Given the description of an element on the screen output the (x, y) to click on. 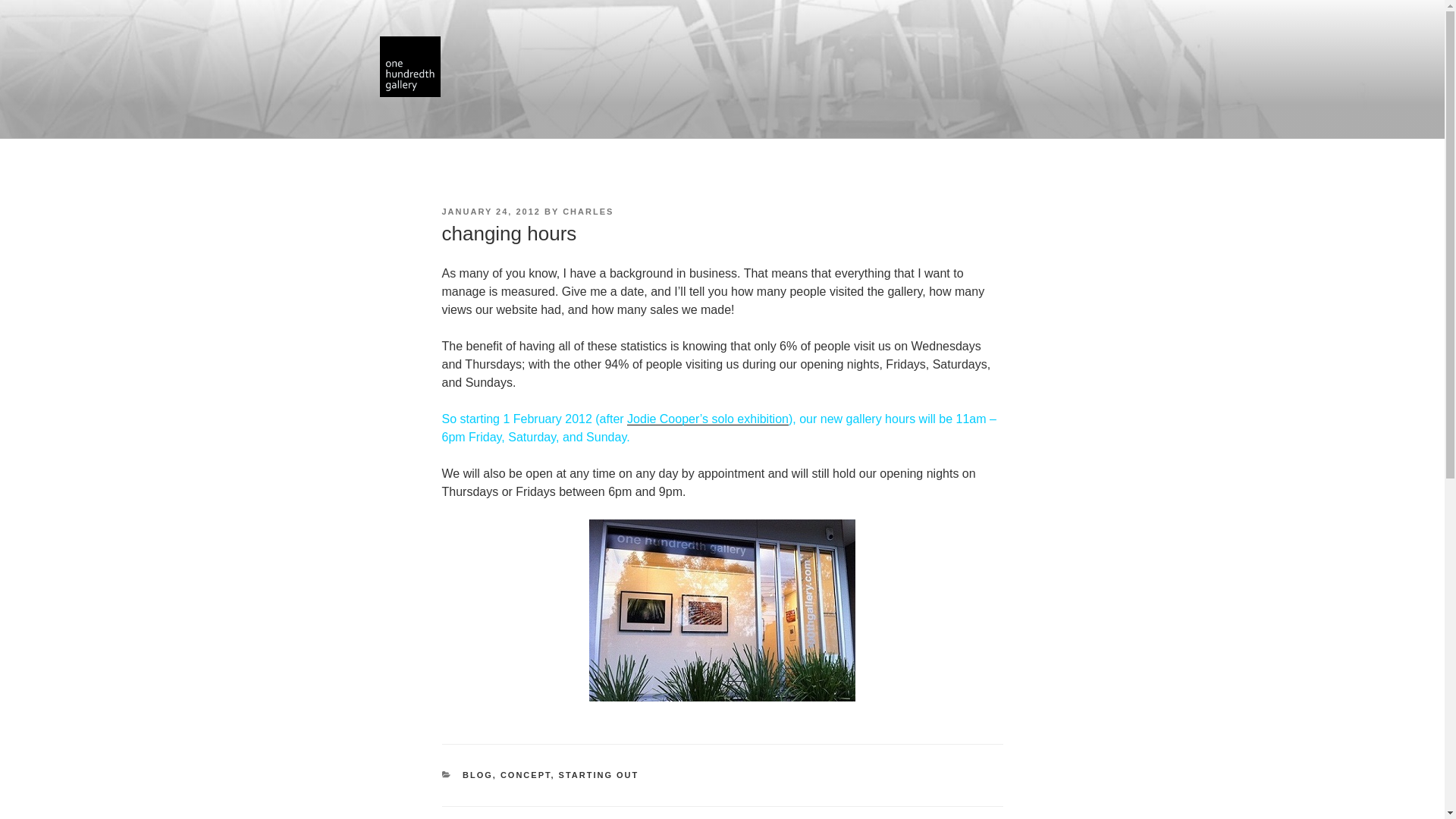
CHARLES (587, 211)
STARTING OUT (599, 774)
CONCEPT (525, 774)
BLOG (478, 774)
ONE HUNDREDTH GALLERY (590, 119)
JANUARY 24, 2012 (490, 211)
one hundredth gallery (722, 610)
